Given the description of an element on the screen output the (x, y) to click on. 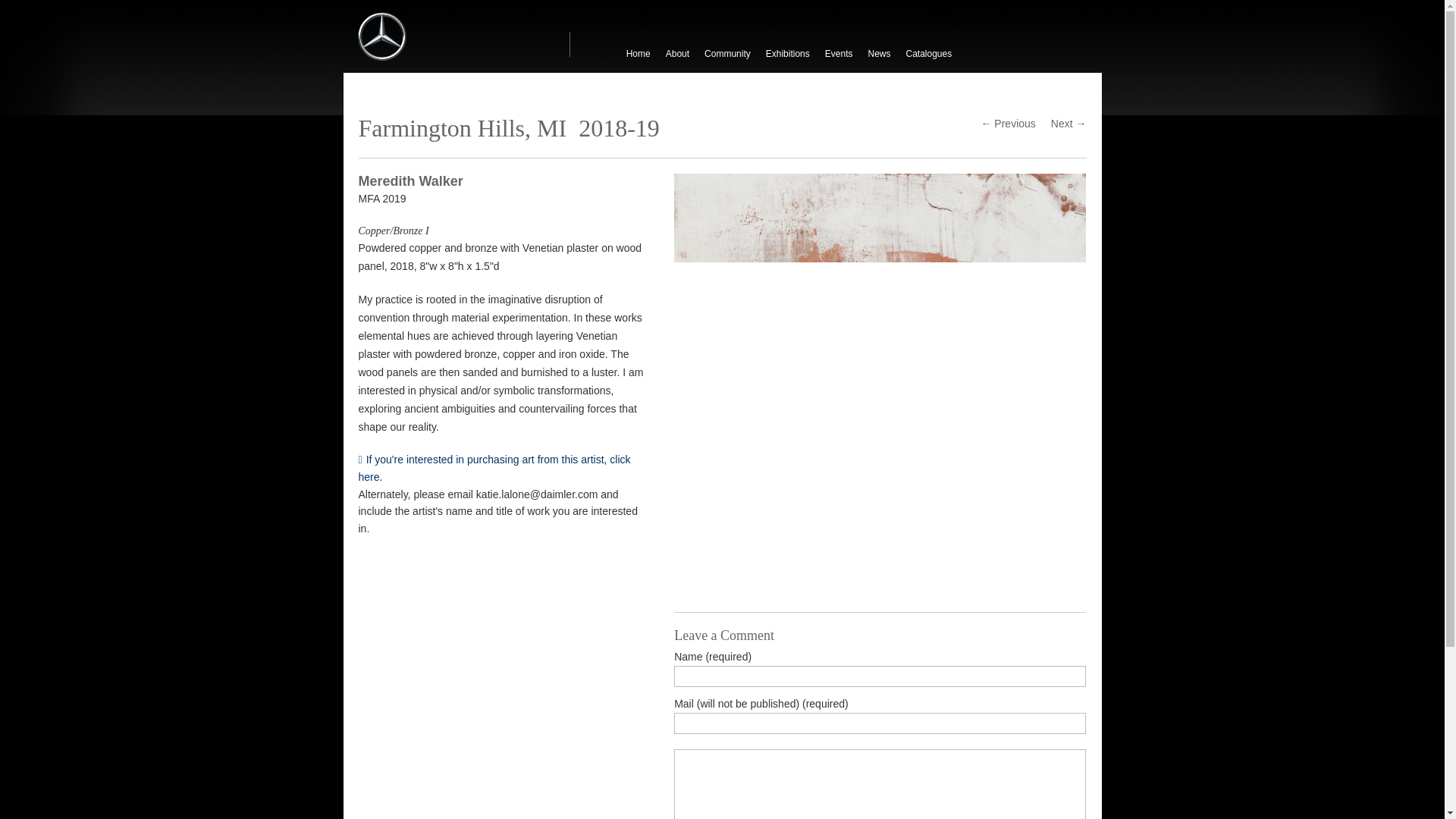
News (879, 53)
Catalogues (928, 53)
Community (727, 53)
Exhibitions (787, 53)
About (677, 53)
Events (838, 53)
Home (638, 53)
Permanent Link to Walker Meredith (500, 468)
Farmington Hills, MI  2018-19 (508, 127)
